Given the description of an element on the screen output the (x, y) to click on. 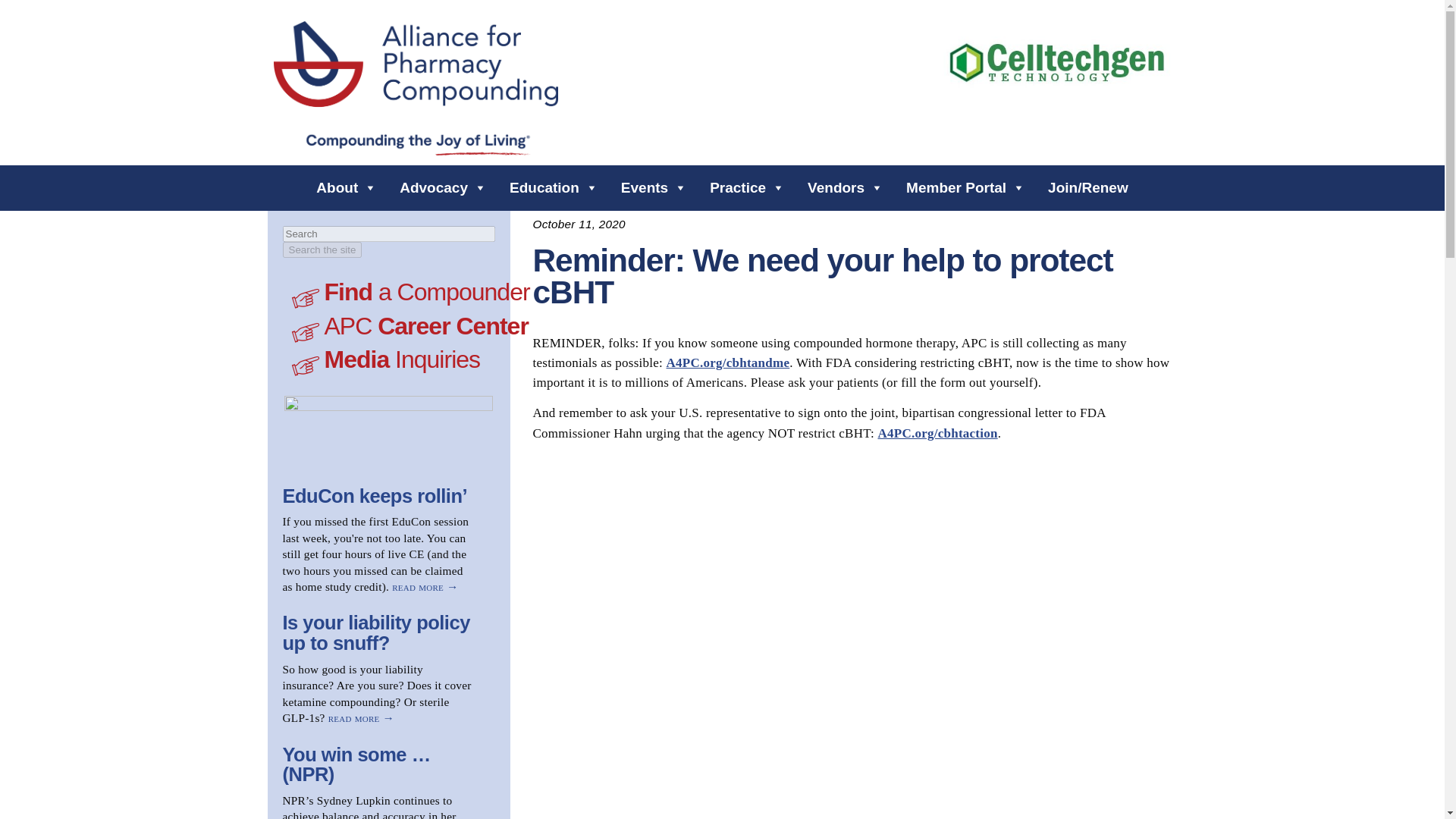
About (346, 187)
Education (553, 187)
Events (654, 187)
Search the site (321, 249)
Advocacy (442, 187)
Logo-CelltechgenLab (1055, 60)
